Given the description of an element on the screen output the (x, y) to click on. 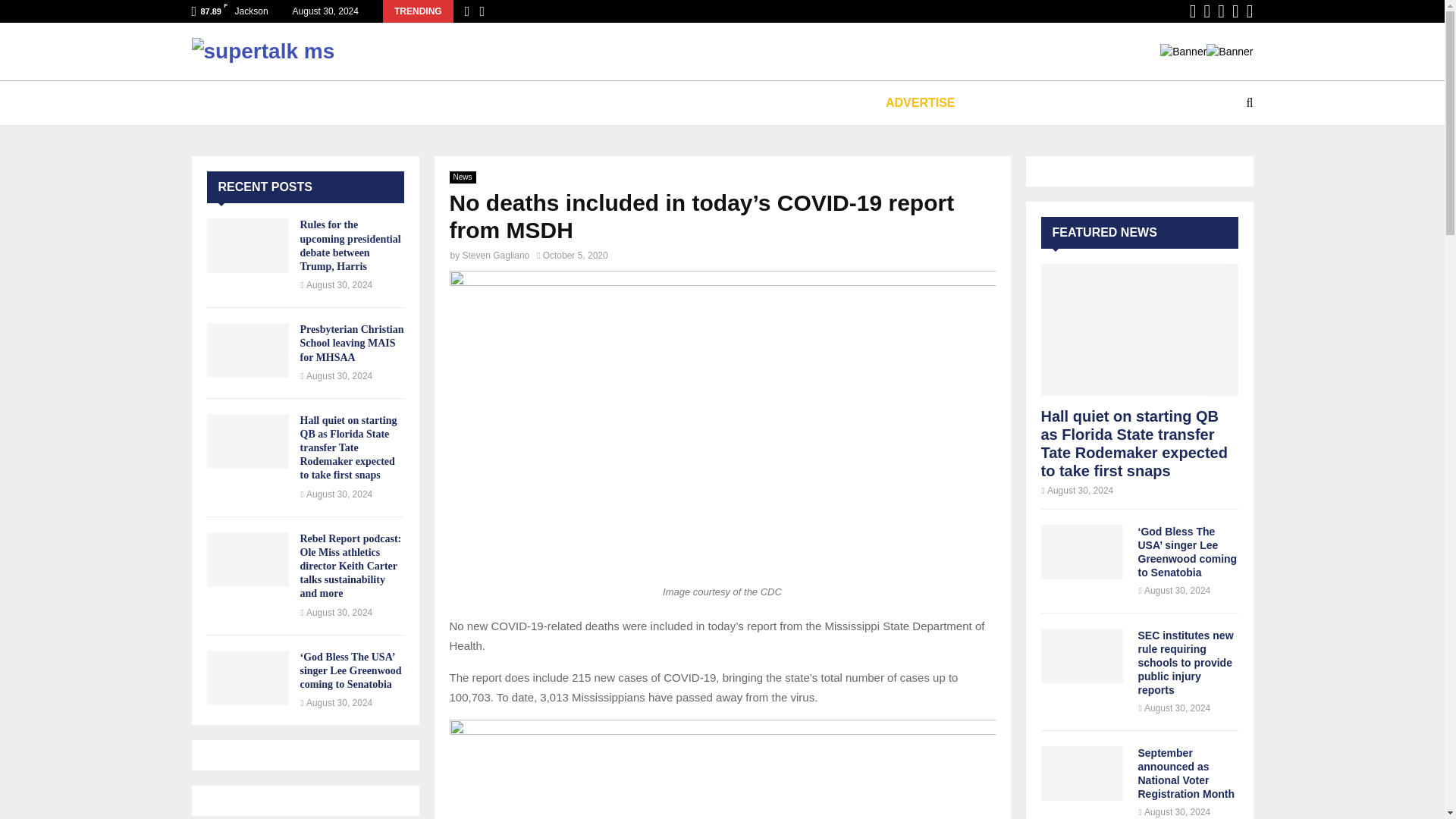
STATIONS (345, 103)
SHOWS (430, 103)
TUNE IN (255, 103)
